Given the description of an element on the screen output the (x, y) to click on. 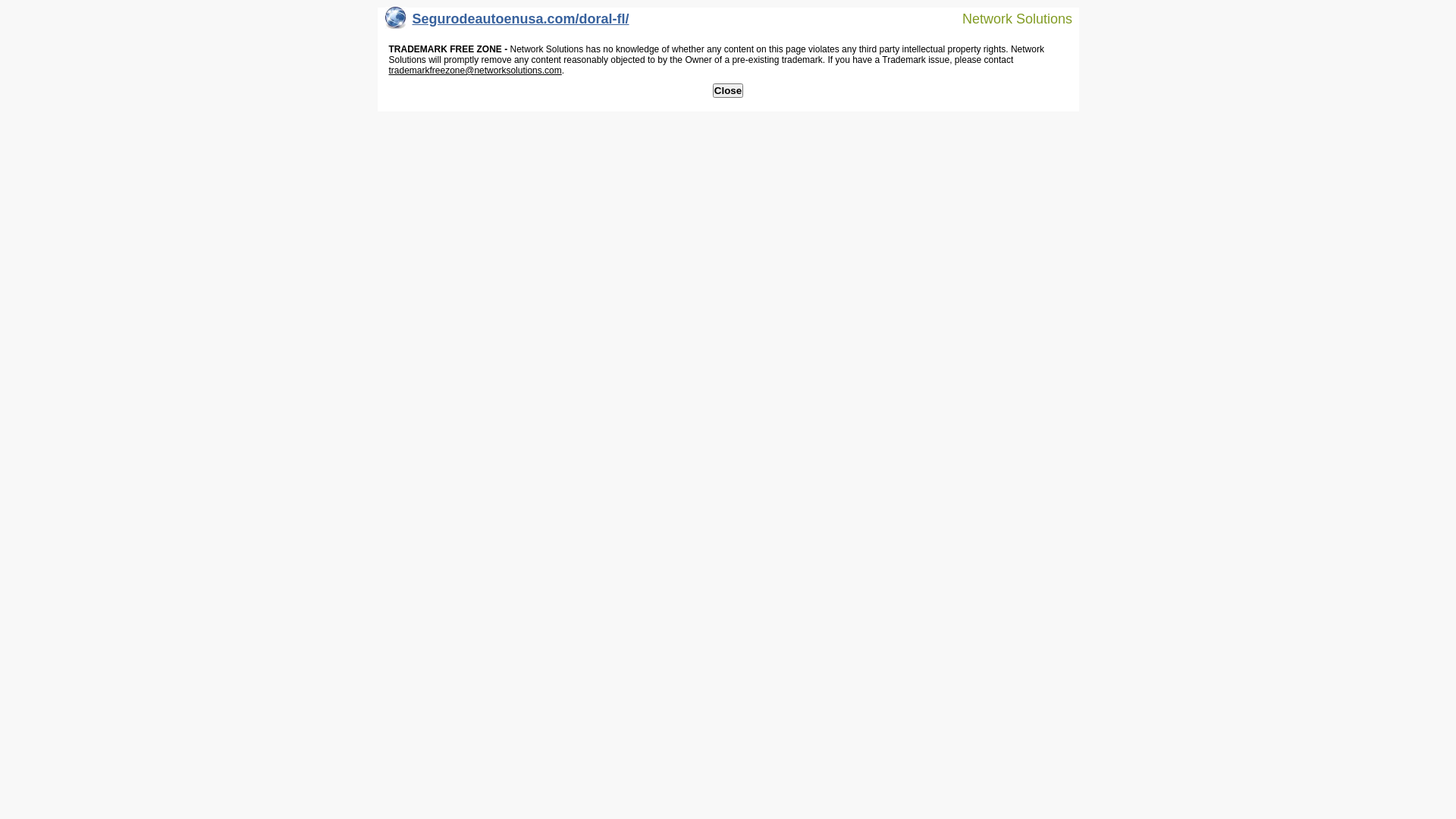
Network Solutions Element type: text (1007, 17)
Segurodeautoenusa.com/doral-fl/ Element type: text (507, 21)
Close Element type: text (727, 90)
trademarkfreezone@networksolutions.com Element type: text (474, 70)
